Given the description of an element on the screen output the (x, y) to click on. 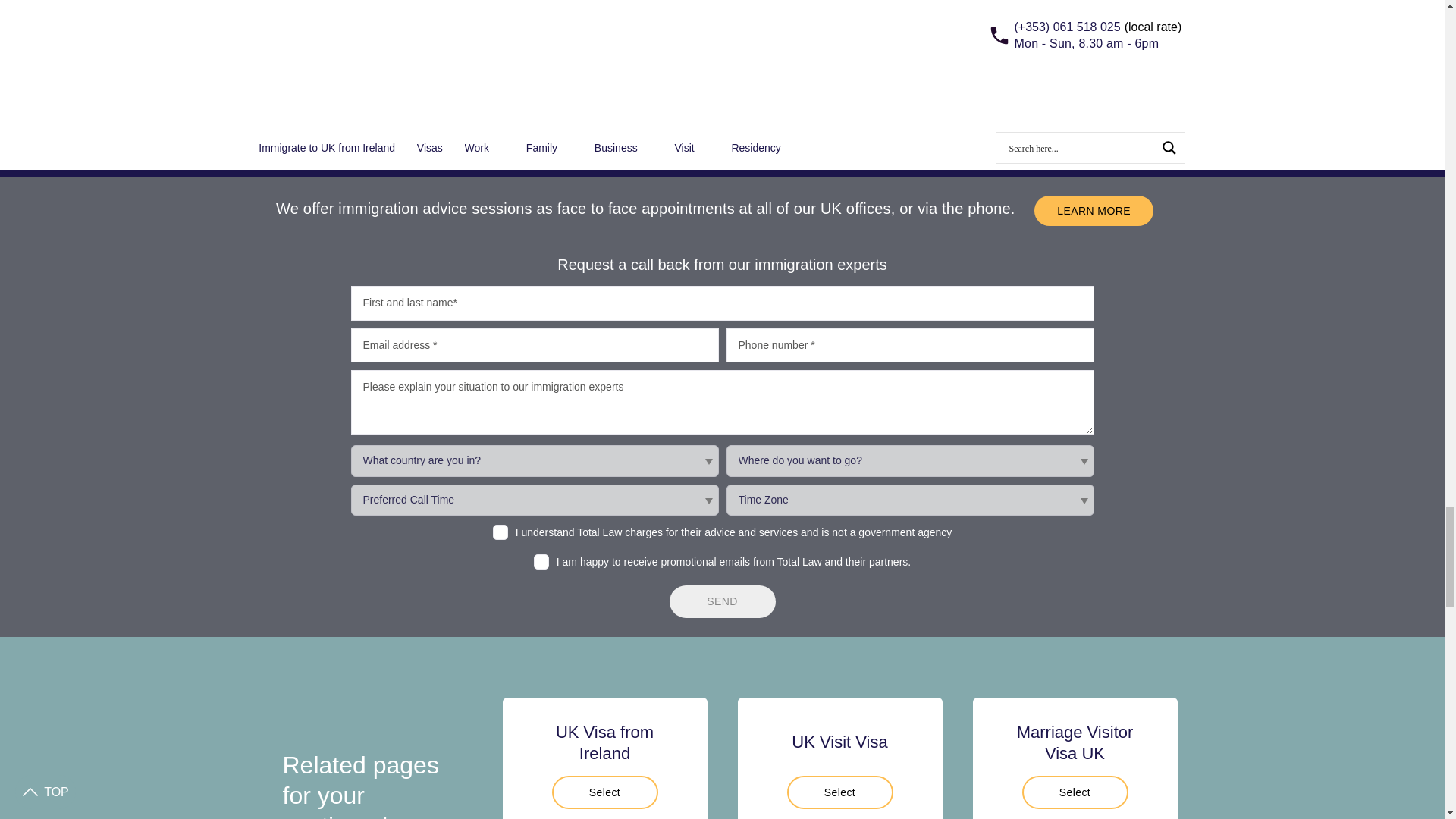
SEND (721, 602)
Read more about UK Visit Visa (840, 792)
Read more about UK Visa from Ireland (604, 792)
Read more about Marriage Visitor Visa UK (1075, 792)
